Given the description of an element on the screen output the (x, y) to click on. 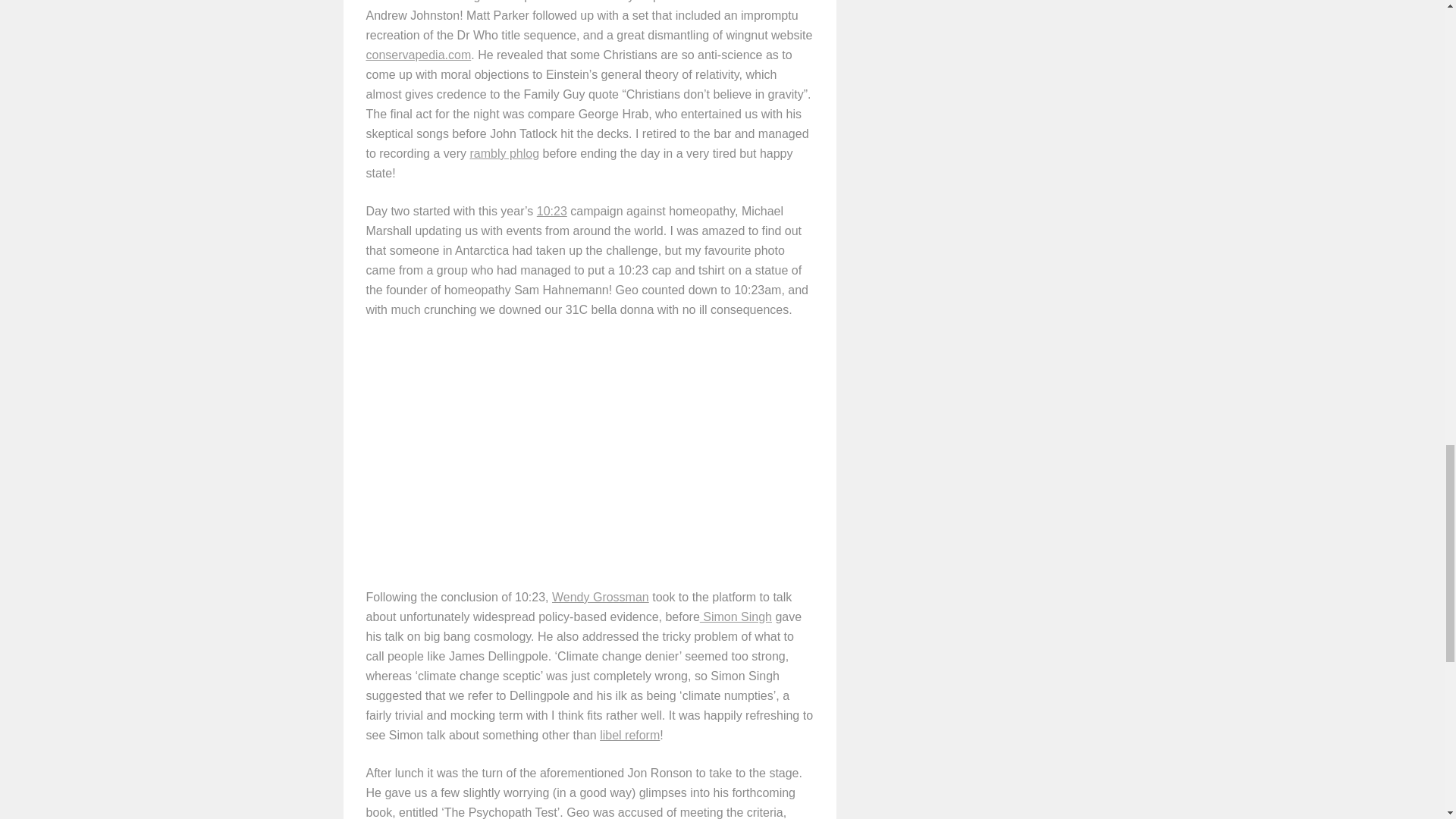
Simon Singh (735, 616)
10:23 (552, 210)
rambly phlog (503, 153)
conservapedia.com (417, 54)
Wendy Grossman (600, 596)
libel reform (629, 735)
